Given the description of an element on the screen output the (x, y) to click on. 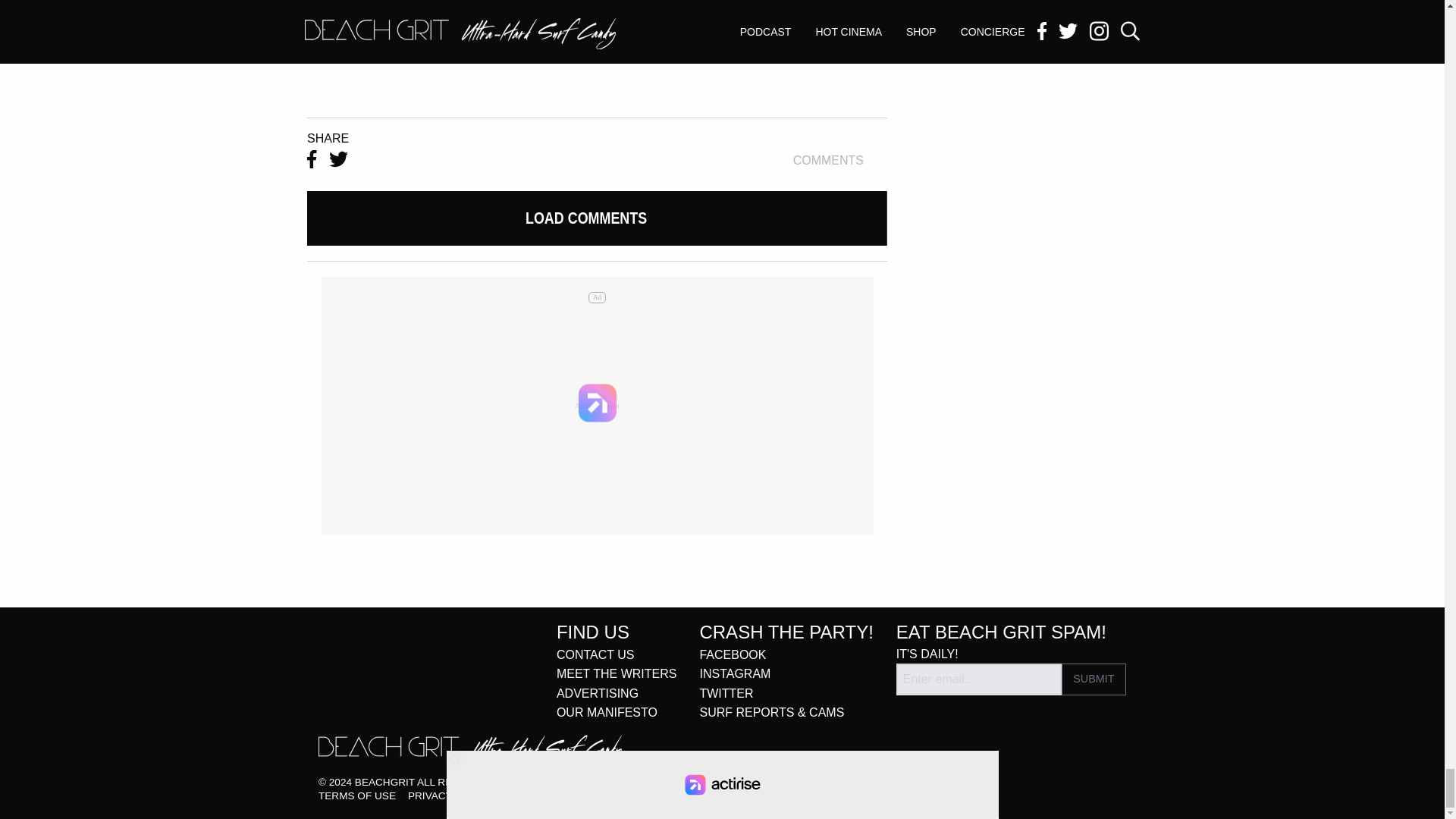
Submit (1093, 679)
